Given the description of an element on the screen output the (x, y) to click on. 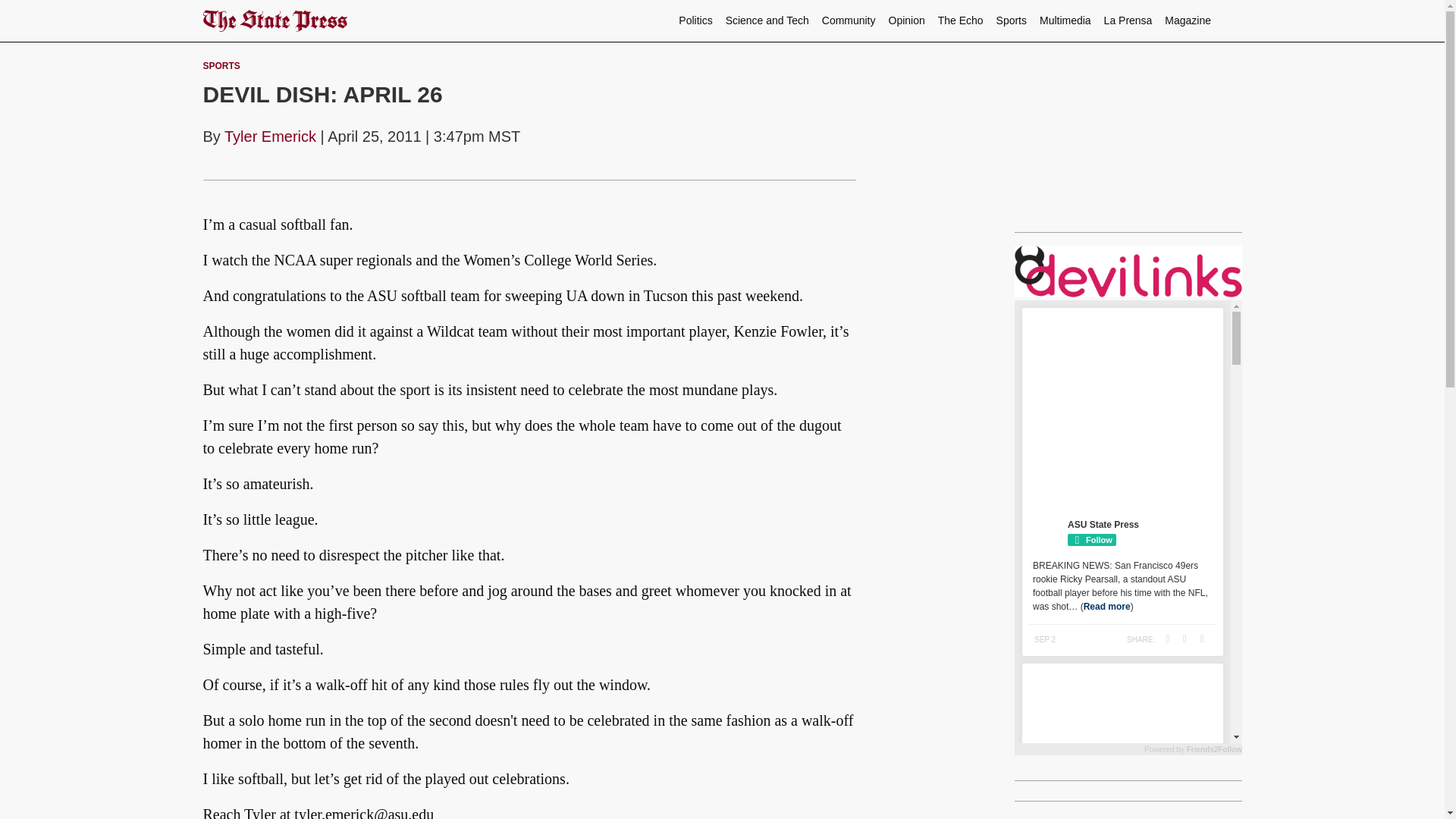
Multimedia (1064, 20)
Community (848, 20)
SPORTS (221, 65)
Community (848, 20)
Magazine (1187, 20)
Opinion (906, 20)
The Echo (960, 20)
Opinion (906, 20)
Multimedia (1064, 20)
Science and Tech (767, 20)
